Given the description of an element on the screen output the (x, y) to click on. 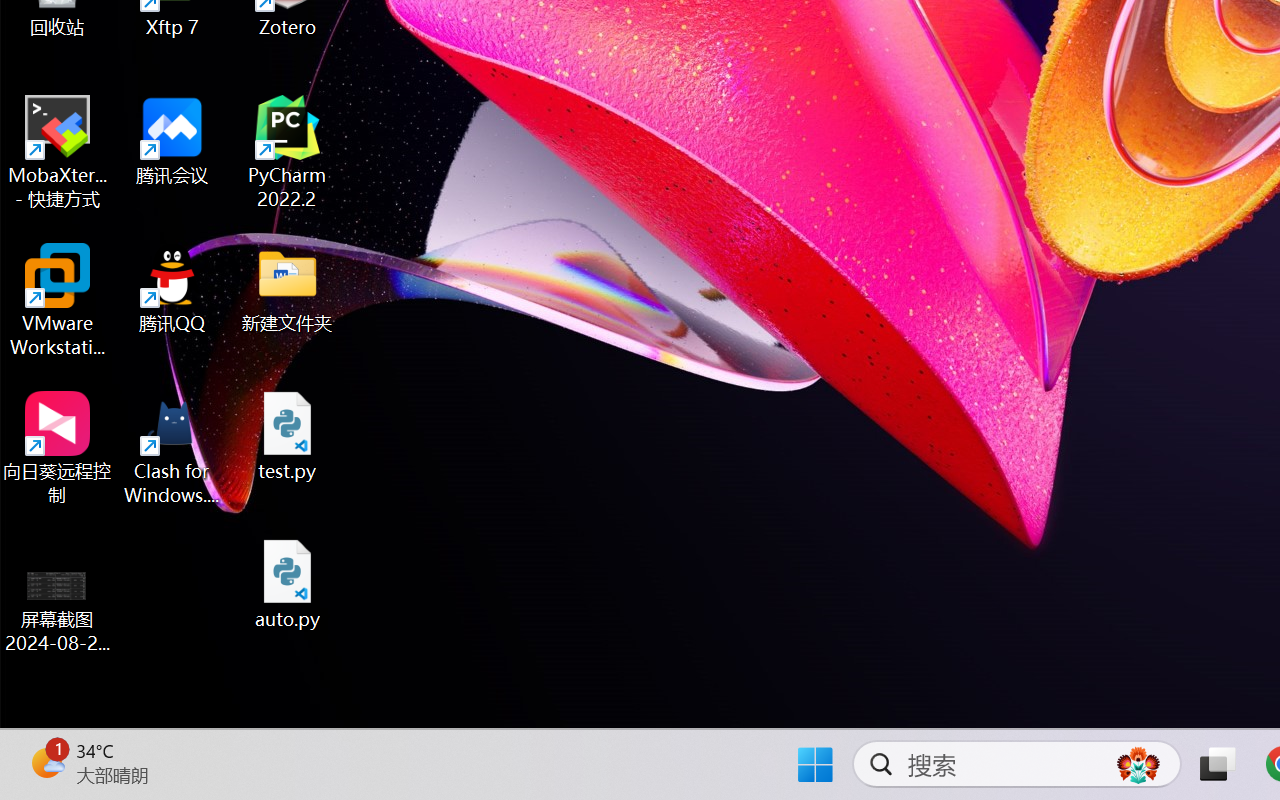
VMware Workstation Pro (57, 300)
PyCharm 2022.2 (287, 152)
test.py (287, 436)
auto.py (287, 584)
